Given the description of an element on the screen output the (x, y) to click on. 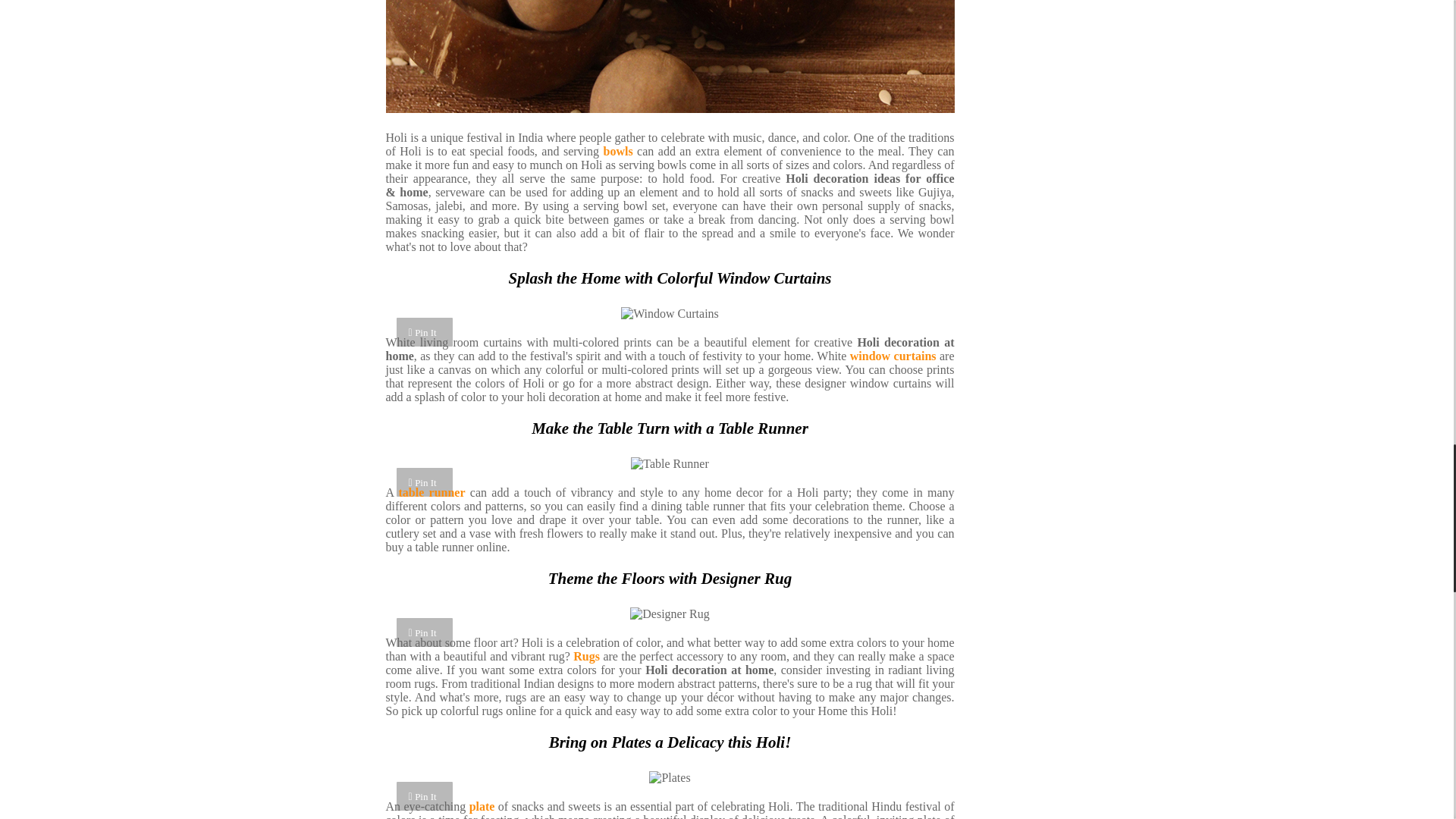
Serving Bowls (669, 56)
Table Runner (668, 463)
Window Curtains (670, 314)
Plates (669, 777)
Designer Rug (669, 613)
